Given the description of an element on the screen output the (x, y) to click on. 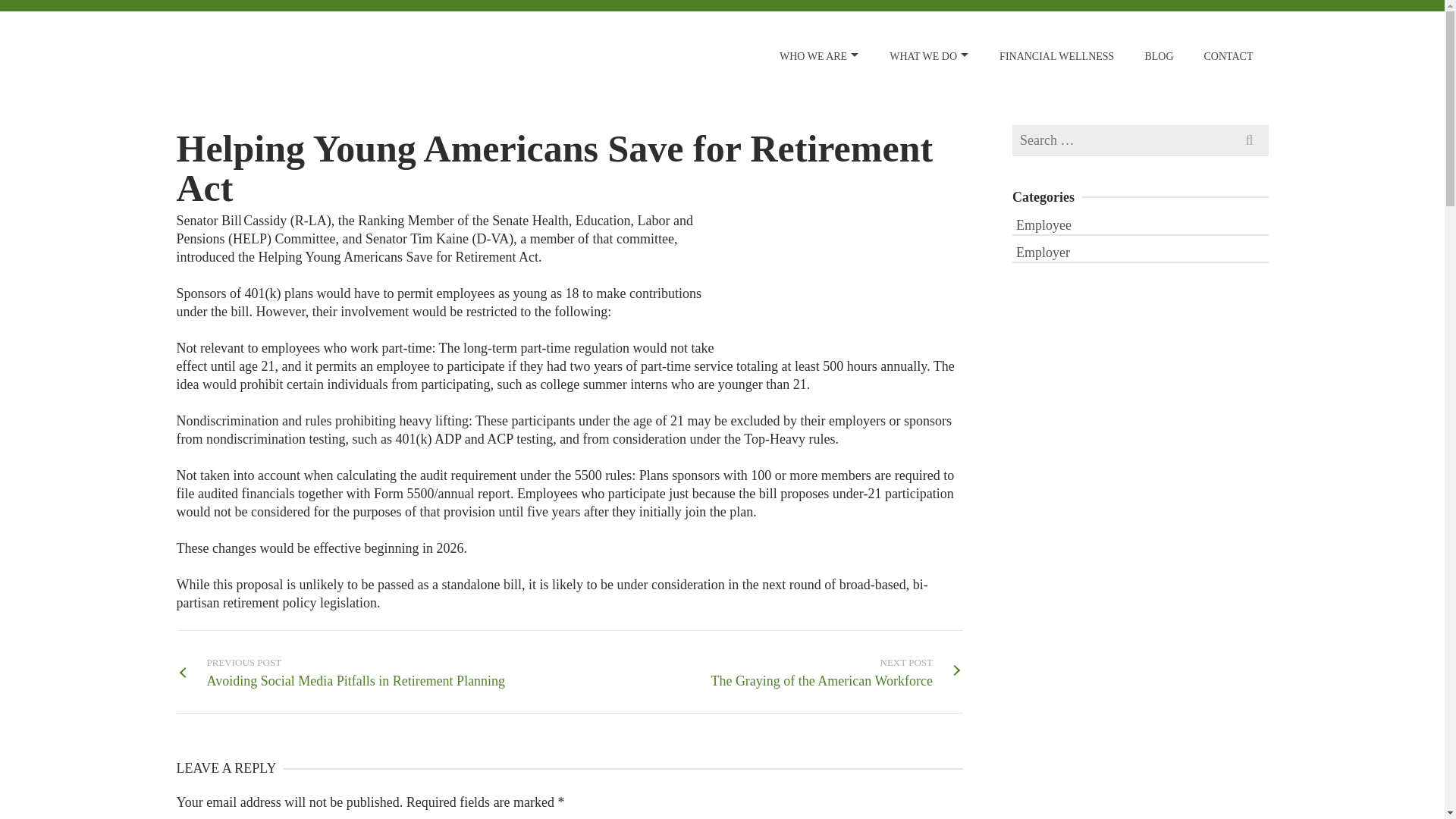
BLOG (1158, 56)
FINANCIAL WELLNESS (1056, 56)
Employer (836, 671)
WHAT WE DO (1139, 250)
WHO WE ARE (929, 56)
Employee (819, 56)
CONTACT (1139, 223)
